Given the description of an element on the screen output the (x, y) to click on. 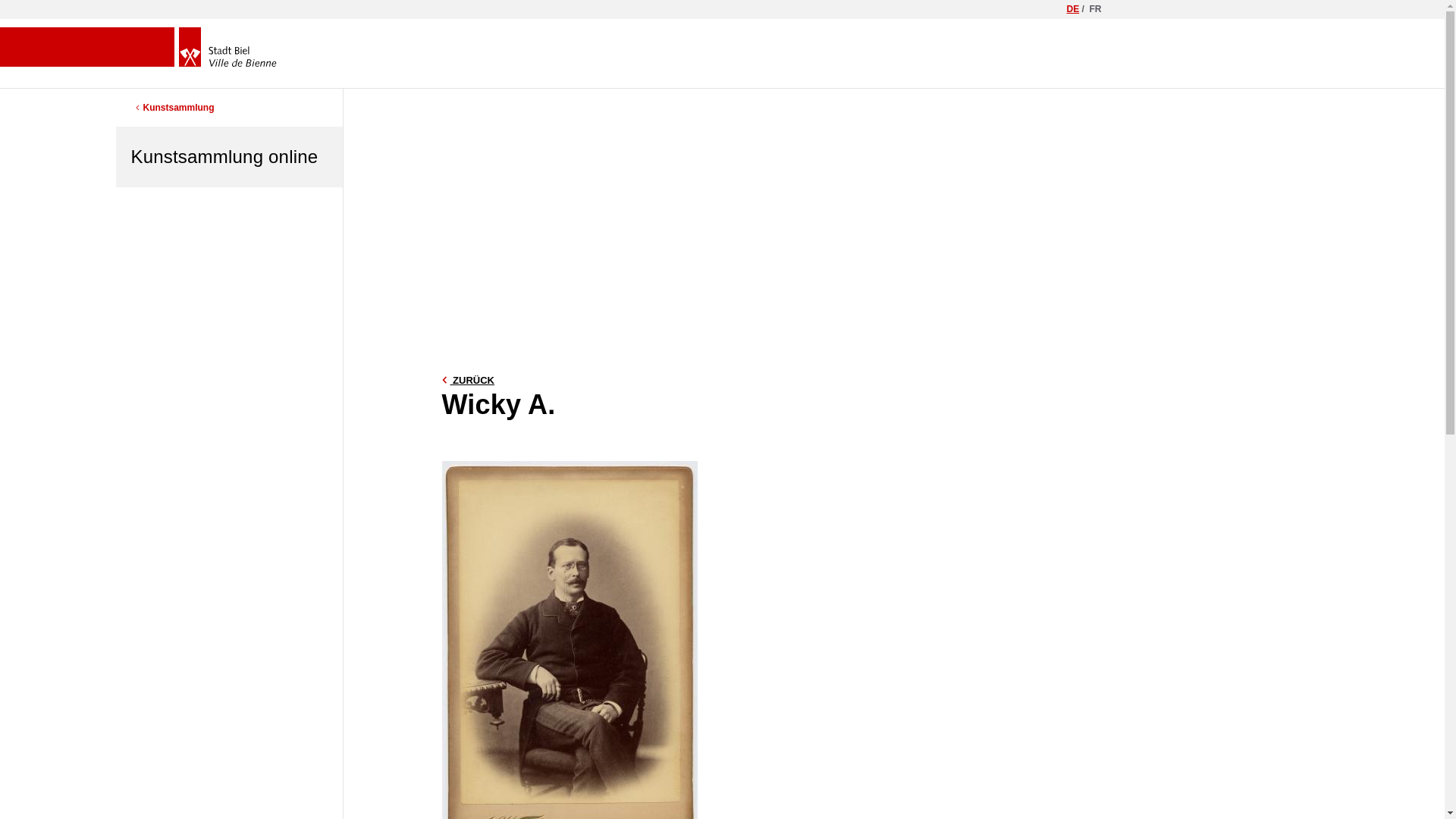
Kunstsammlung Element type: text (172, 107)
DE Element type: text (1072, 8)
Homepage Element type: hover (227, 47)
FR Element type: text (1094, 8)
